Given the description of an element on the screen output the (x, y) to click on. 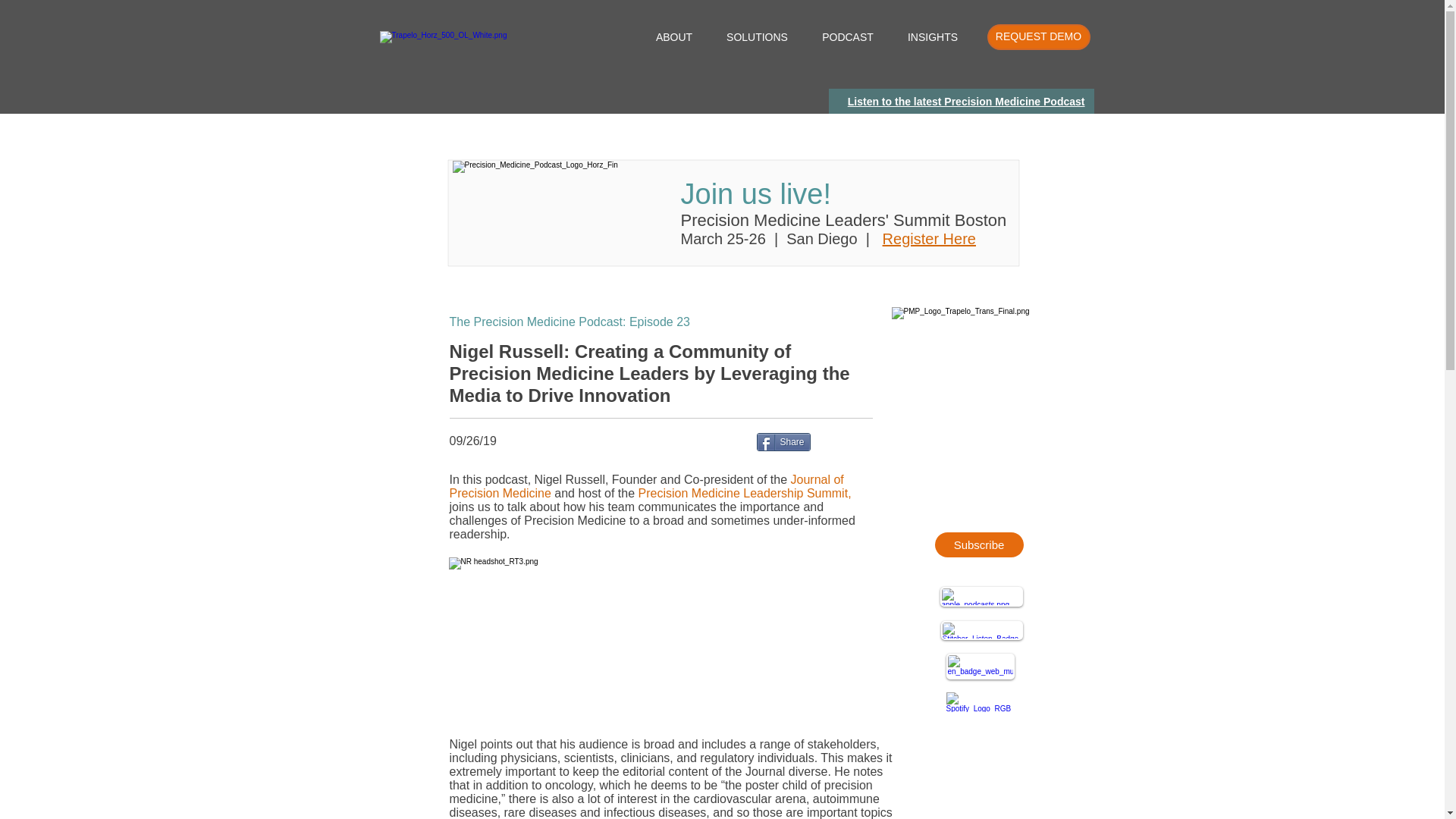
Twitter Tweet (847, 441)
Precision Medicine Leadership Summit (743, 492)
Share (783, 442)
Register Here (928, 238)
Share (783, 442)
Listen to the latest Precision Medicine Podcast (965, 101)
SOLUTIONS (757, 37)
Journal of Precision Medicine (645, 486)
Subscribe (978, 544)
Join us live! (756, 193)
ABOUT (674, 37)
The Precision Medicine Podcast: Episode 23 (569, 321)
PODCAST (848, 37)
REQUEST DEMO (1038, 36)
